Given the description of an element on the screen output the (x, y) to click on. 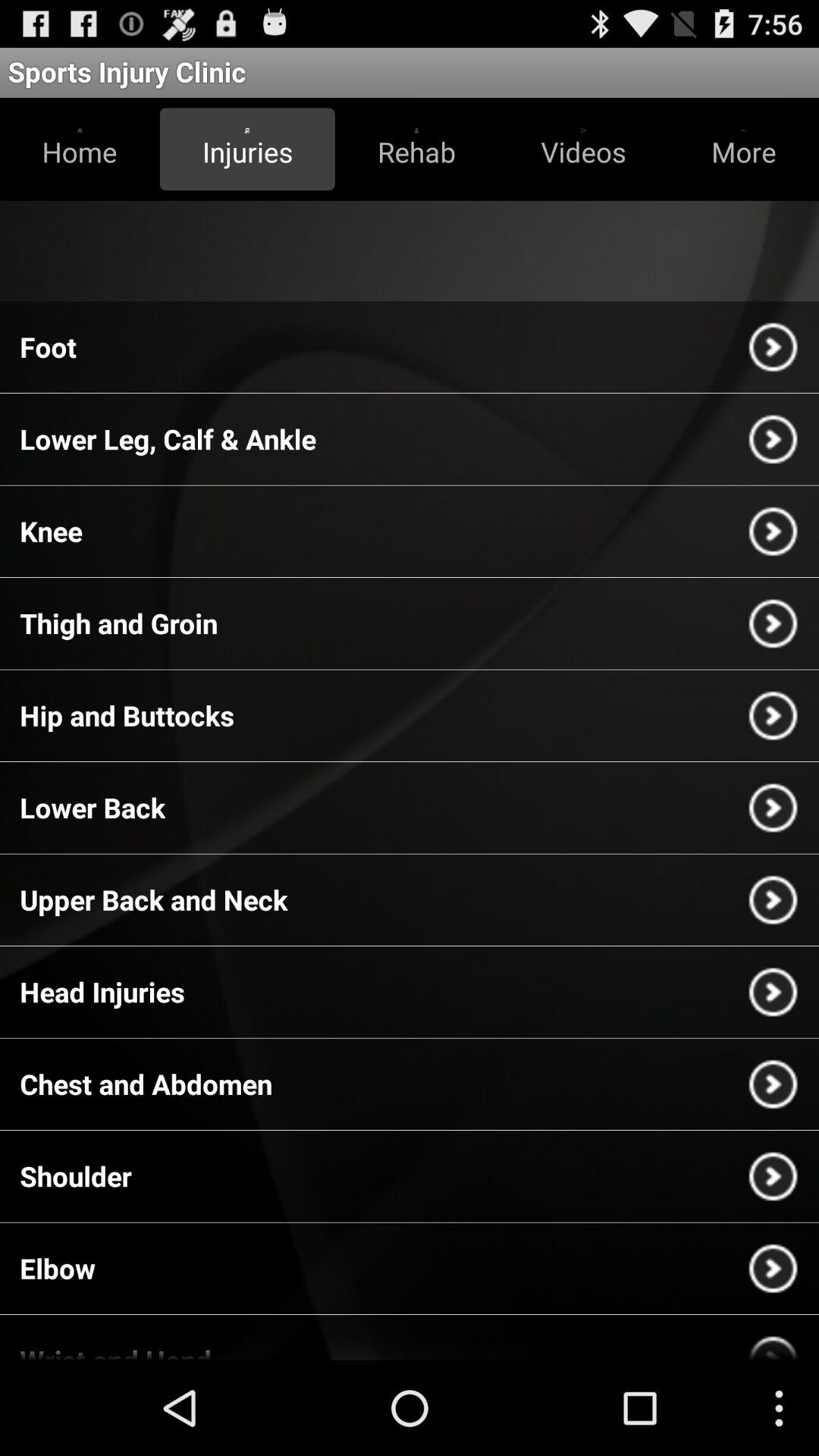
launch item above the lower leg calf (47, 346)
